Given the description of an element on the screen output the (x, y) to click on. 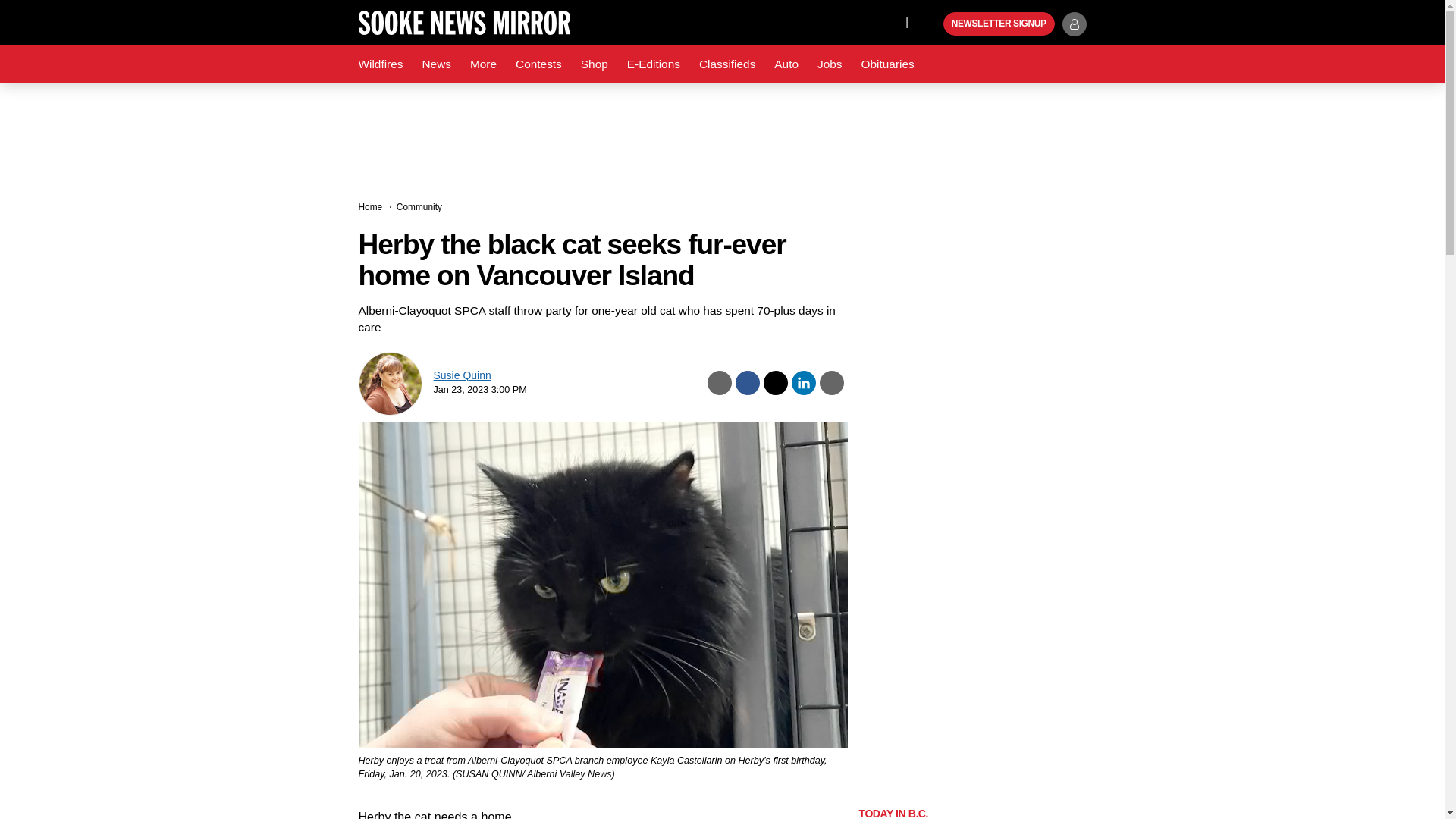
Play (929, 24)
Wildfires (380, 64)
Black Press Media (929, 24)
X (889, 21)
NEWSLETTER SIGNUP (998, 24)
News (435, 64)
